Given the description of an element on the screen output the (x, y) to click on. 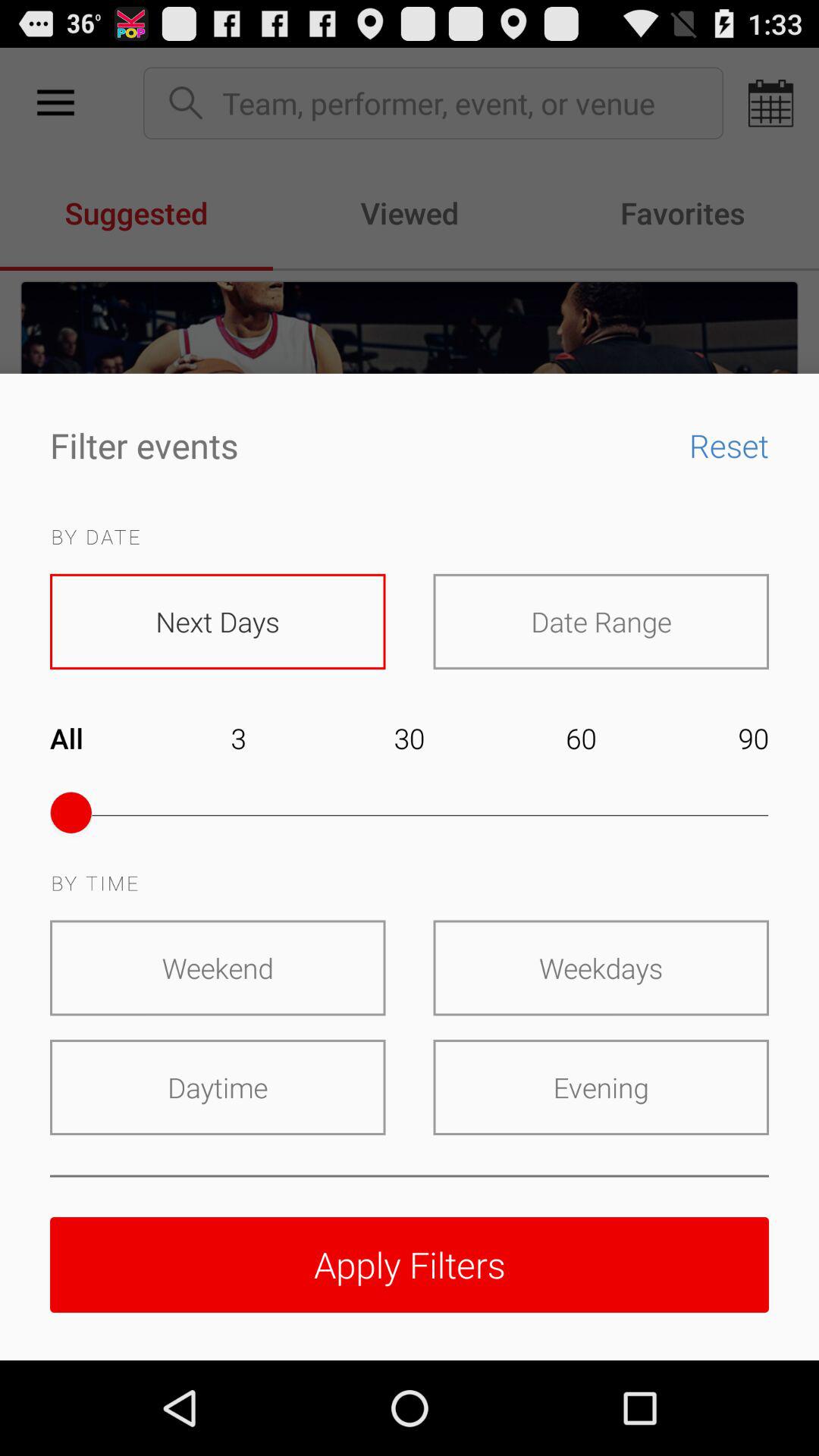
tap icon below the reset icon (600, 621)
